Given the description of an element on the screen output the (x, y) to click on. 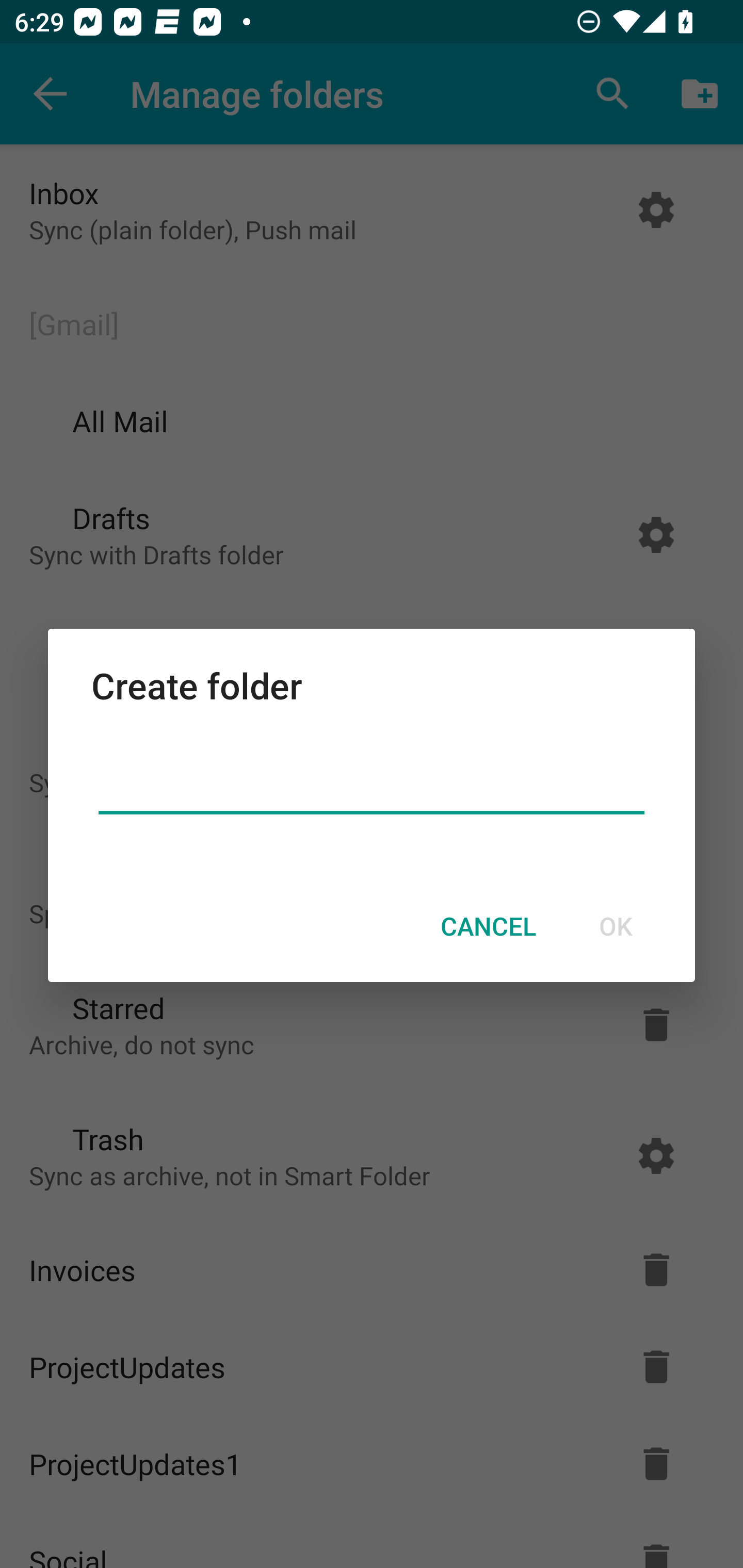
CANCEL (488, 926)
OK (615, 926)
